Given the description of an element on the screen output the (x, y) to click on. 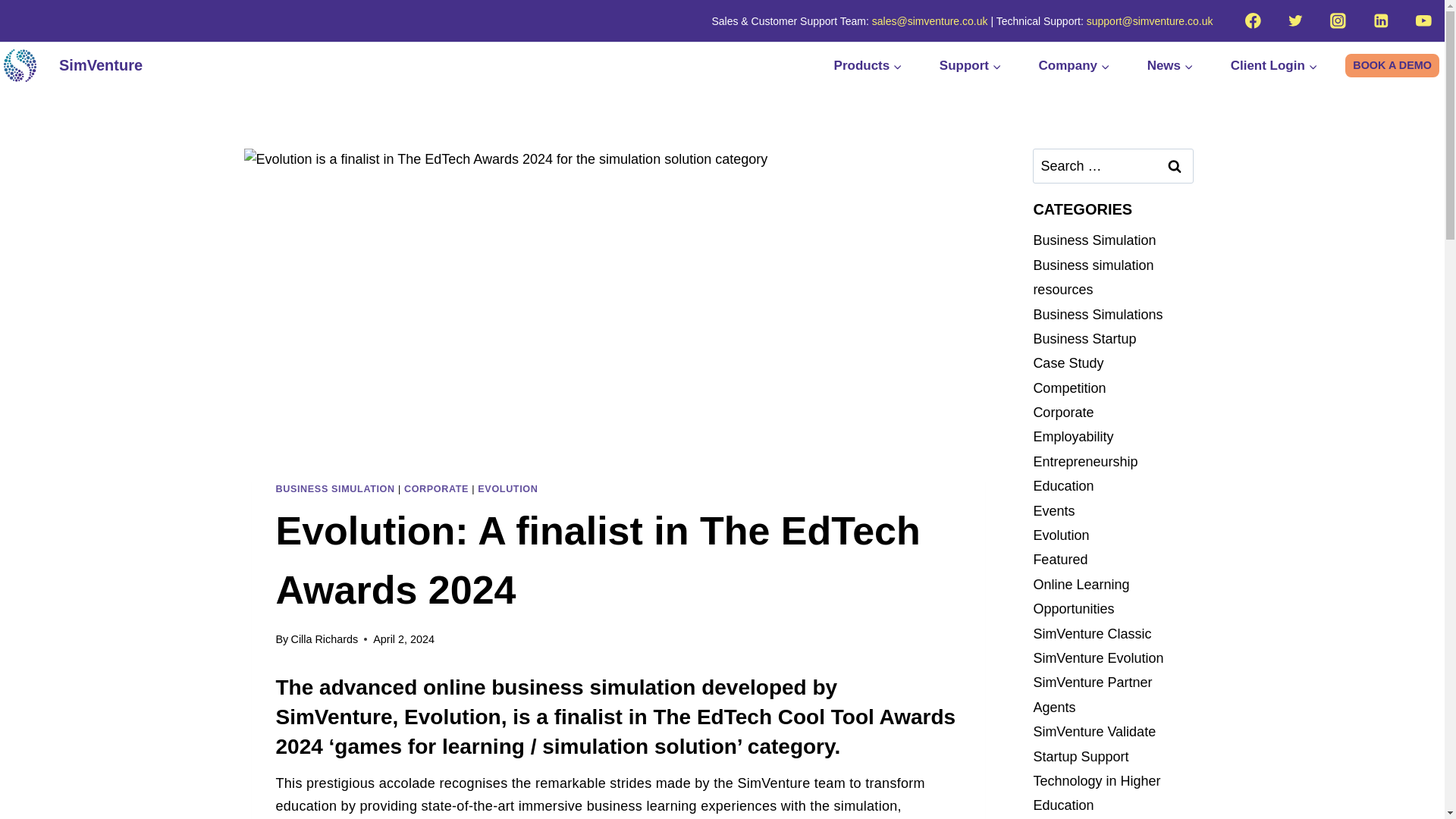
Search (1174, 165)
SimVenture (73, 65)
Search (1174, 165)
Products (877, 64)
Support (970, 64)
